Given the description of an element on the screen output the (x, y) to click on. 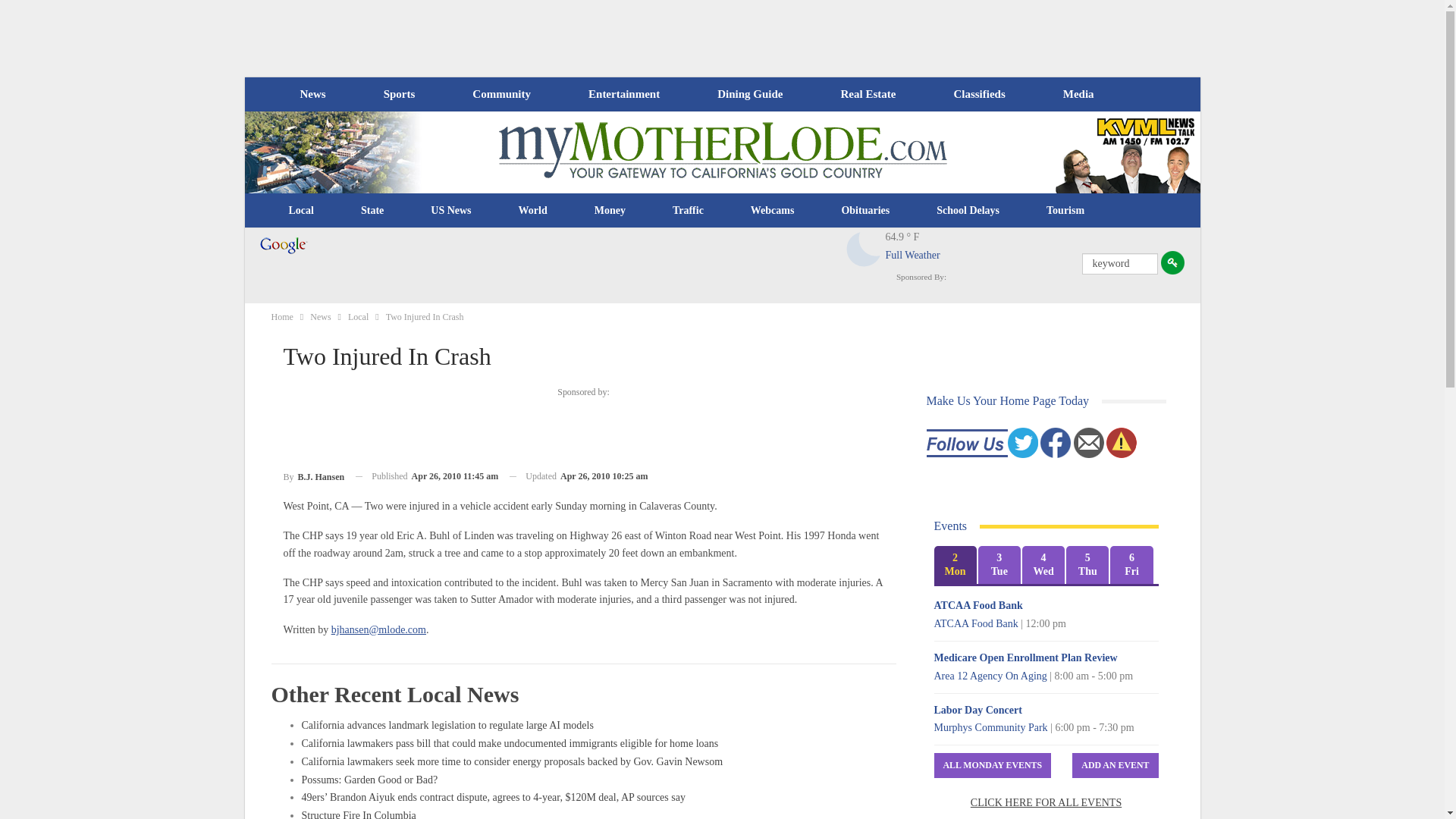
Money (609, 210)
Local (300, 210)
Clear (864, 249)
News (312, 93)
State (372, 210)
keyword (1119, 263)
Traffic (687, 210)
